Given the description of an element on the screen output the (x, y) to click on. 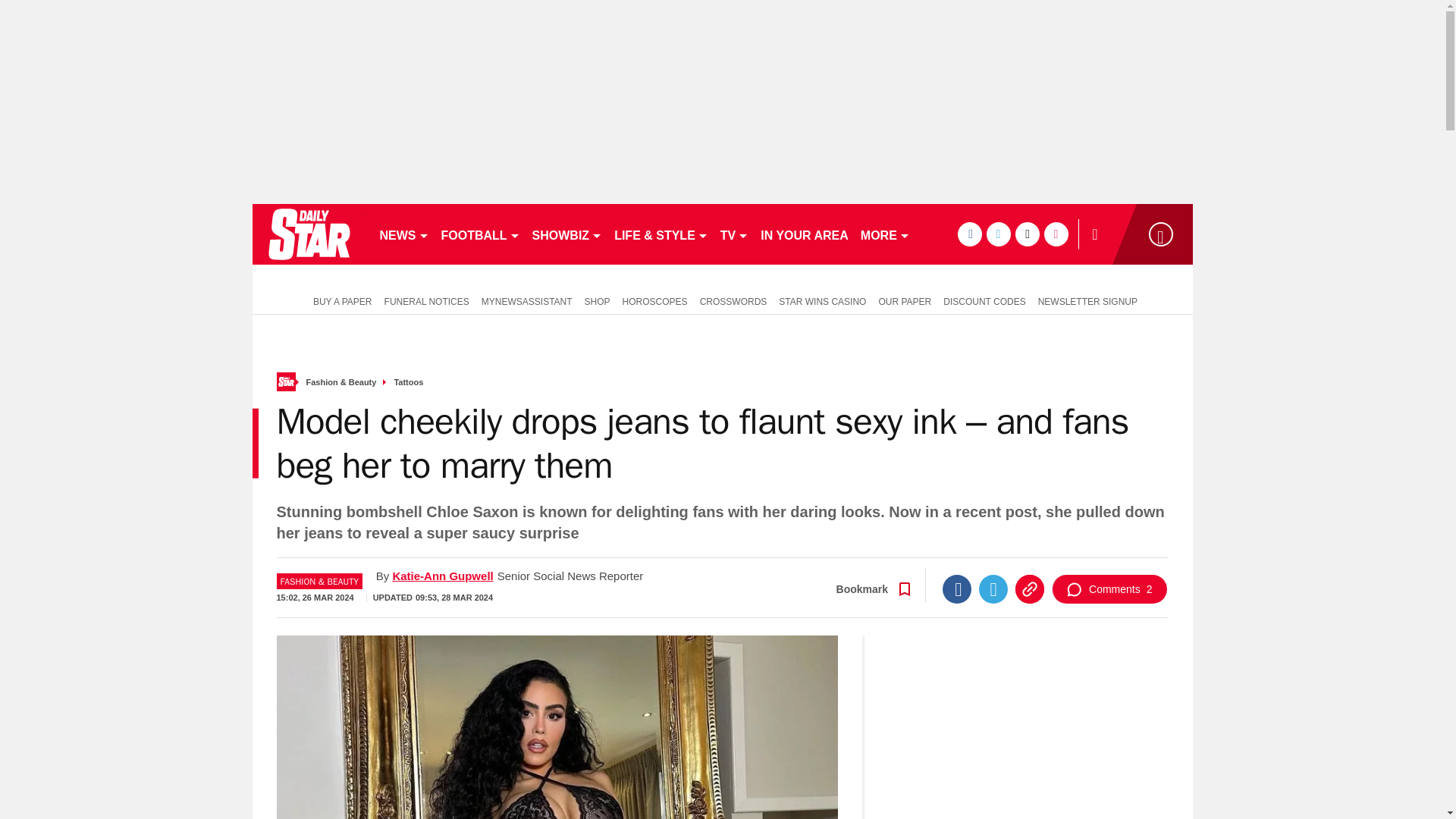
dailystar (308, 233)
FOOTBALL (480, 233)
instagram (1055, 233)
Twitter (992, 588)
Facebook (956, 588)
twitter (997, 233)
facebook (968, 233)
Comments (1108, 588)
tiktok (1026, 233)
NEWS (402, 233)
